Given the description of an element on the screen output the (x, y) to click on. 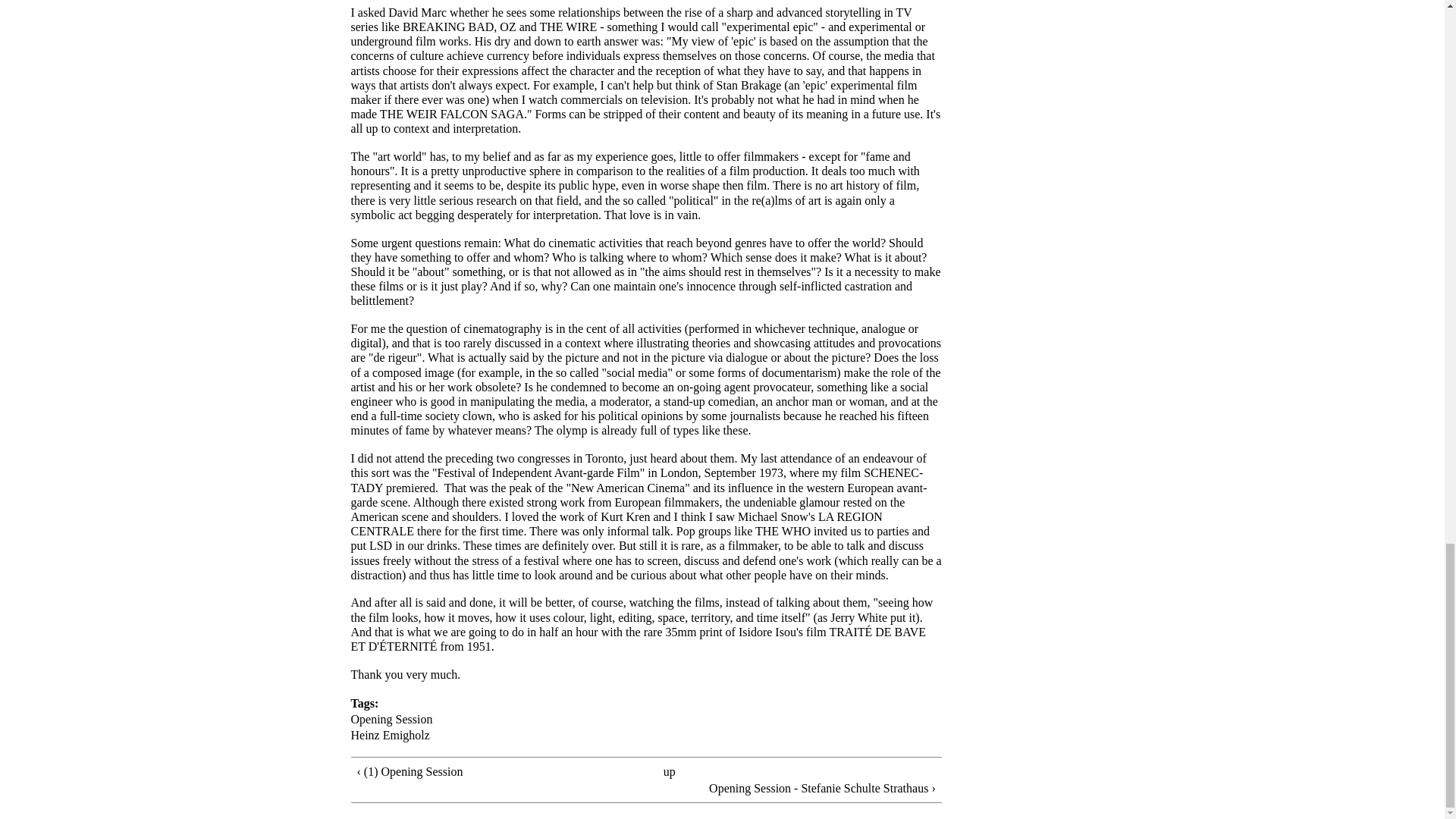
Opening Session (391, 718)
Heinz Emigholz (389, 735)
Zur vorherigen Seite (477, 771)
up (669, 771)
